Given the description of an element on the screen output the (x, y) to click on. 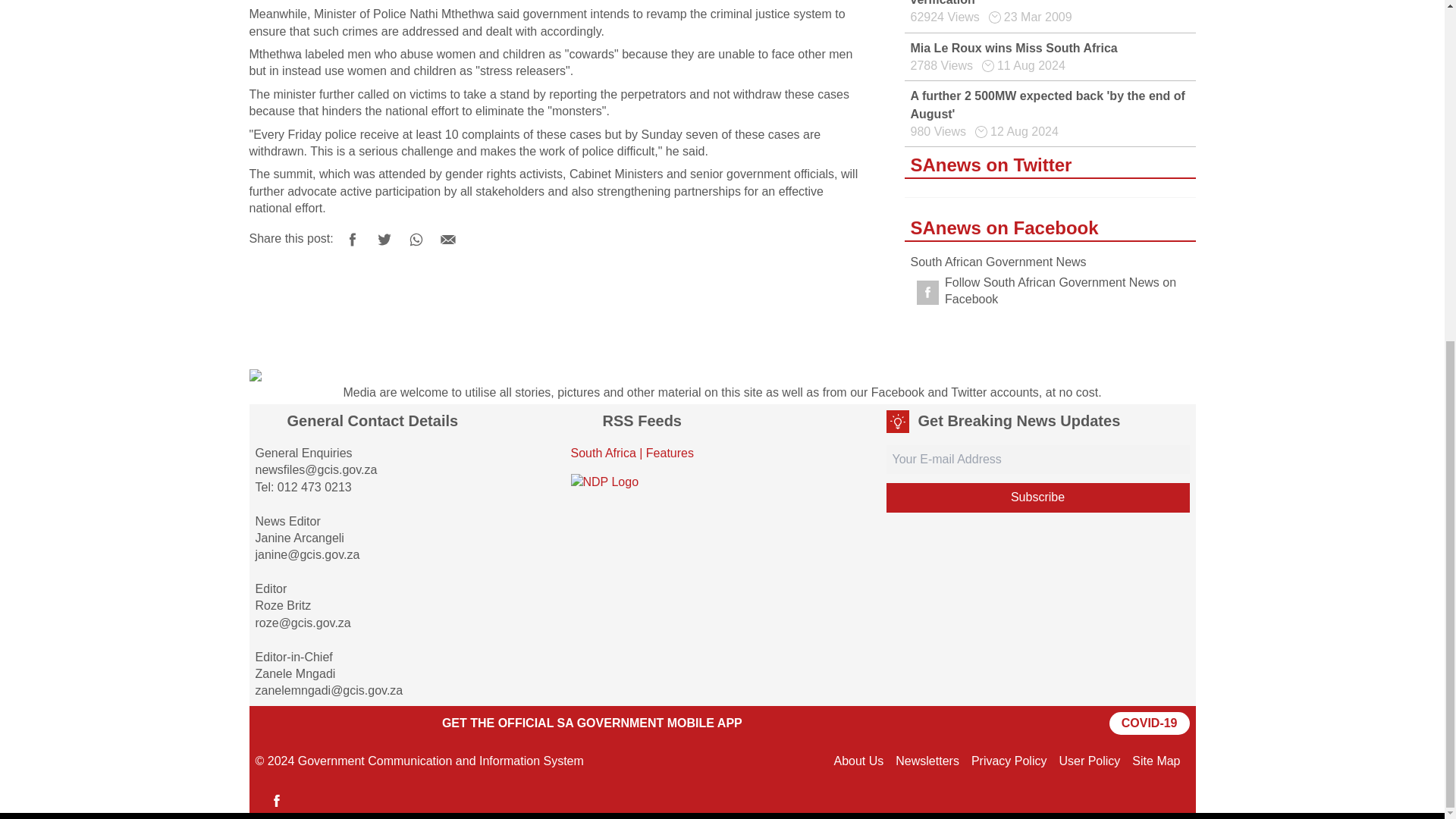
Share on Twitter (384, 239)
Privacy Policy (1008, 760)
Site Map (1155, 760)
Subscribe (1037, 497)
Follow South African Government News on Facebook (1049, 291)
Home Affairs activates "alive" status verification (1015, 2)
Download from the Google Play Store (292, 722)
Features (670, 452)
Share on WhatsApp (416, 239)
Mia Le Roux wins Miss South Africa (1013, 47)
